Given the description of an element on the screen output the (x, y) to click on. 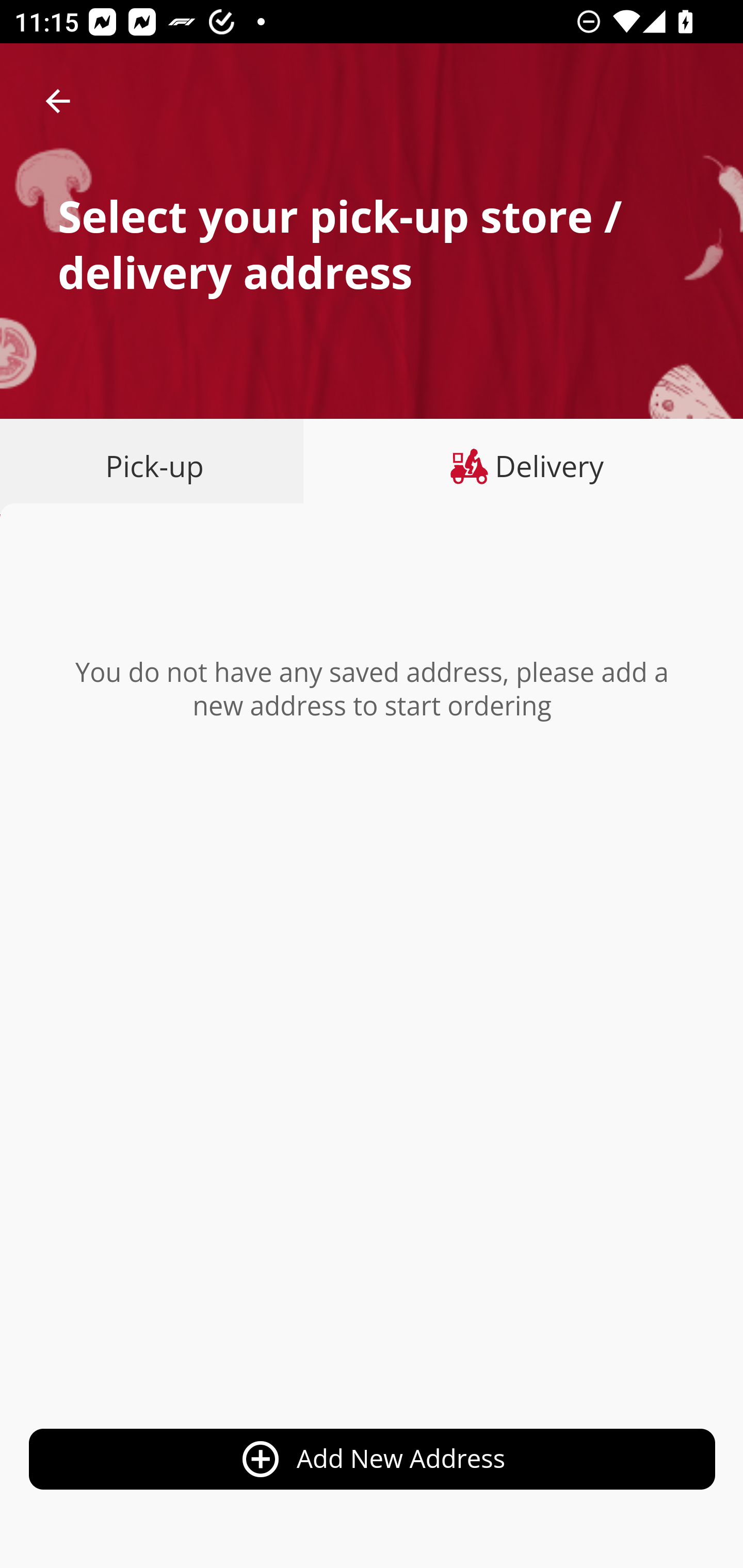
arrow_back (58, 100)
Pick-up (157, 466)
Delivery (523, 466)
add_circle_outline Add New Address (372, 1459)
